Given the description of an element on the screen output the (x, y) to click on. 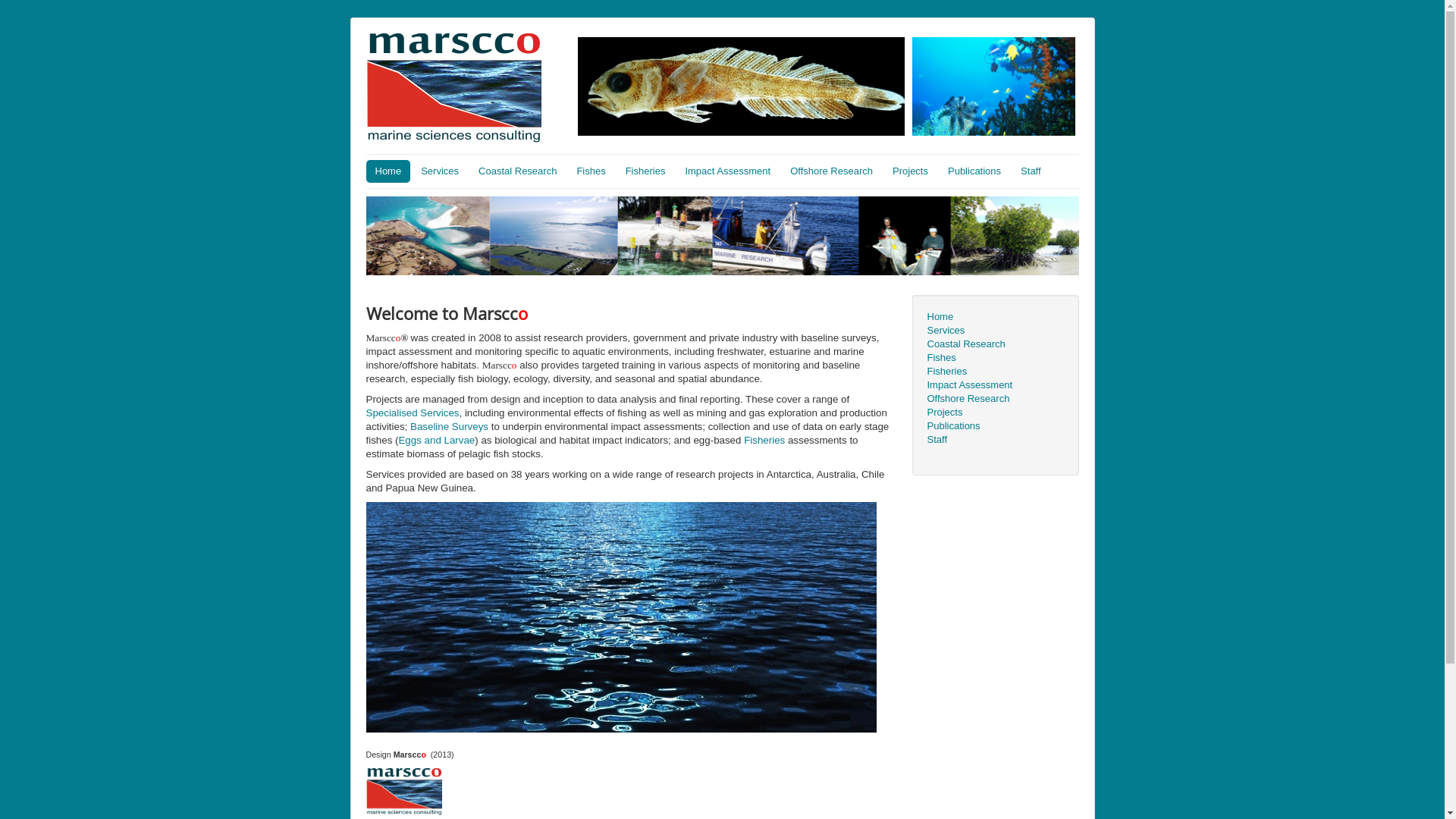
Publications Element type: text (974, 171)
Staff Element type: text (994, 439)
Projects Element type: text (910, 171)
Coastal Research Element type: text (994, 344)
Fishes Element type: text (590, 171)
Offshore Research Element type: text (994, 398)
Baseline Surveys Element type: text (449, 426)
Fishes Element type: text (994, 357)
Coastal Research Element type: text (517, 171)
Fisheries Element type: text (645, 171)
Fisheries Element type: text (994, 371)
Specialised Services Element type: text (411, 412)
Impact Assessment Element type: text (994, 385)
Staff Element type: text (1030, 171)
Services Element type: text (994, 330)
Projects Element type: text (994, 412)
Services Element type: text (439, 171)
Fisheries Element type: text (763, 439)
Offshore Research Element type: text (831, 171)
Eggs and Larvae Element type: text (436, 439)
Impact Assessment Element type: text (727, 171)
Home Element type: text (994, 316)
Publications Element type: text (994, 426)
Home Element type: text (387, 171)
